Given the description of an element on the screen output the (x, y) to click on. 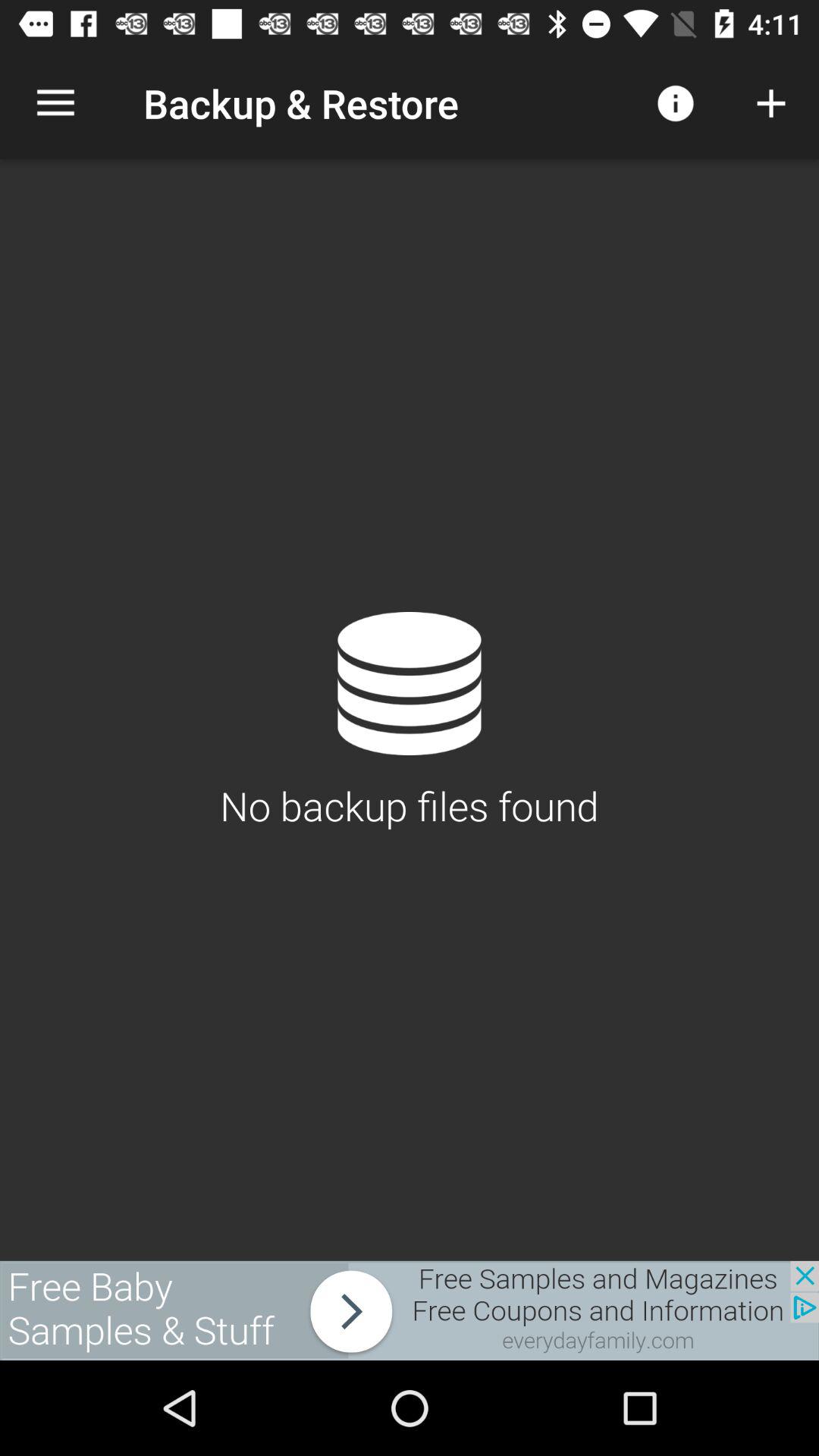
rectangle linking to baby products (409, 1310)
